Given the description of an element on the screen output the (x, y) to click on. 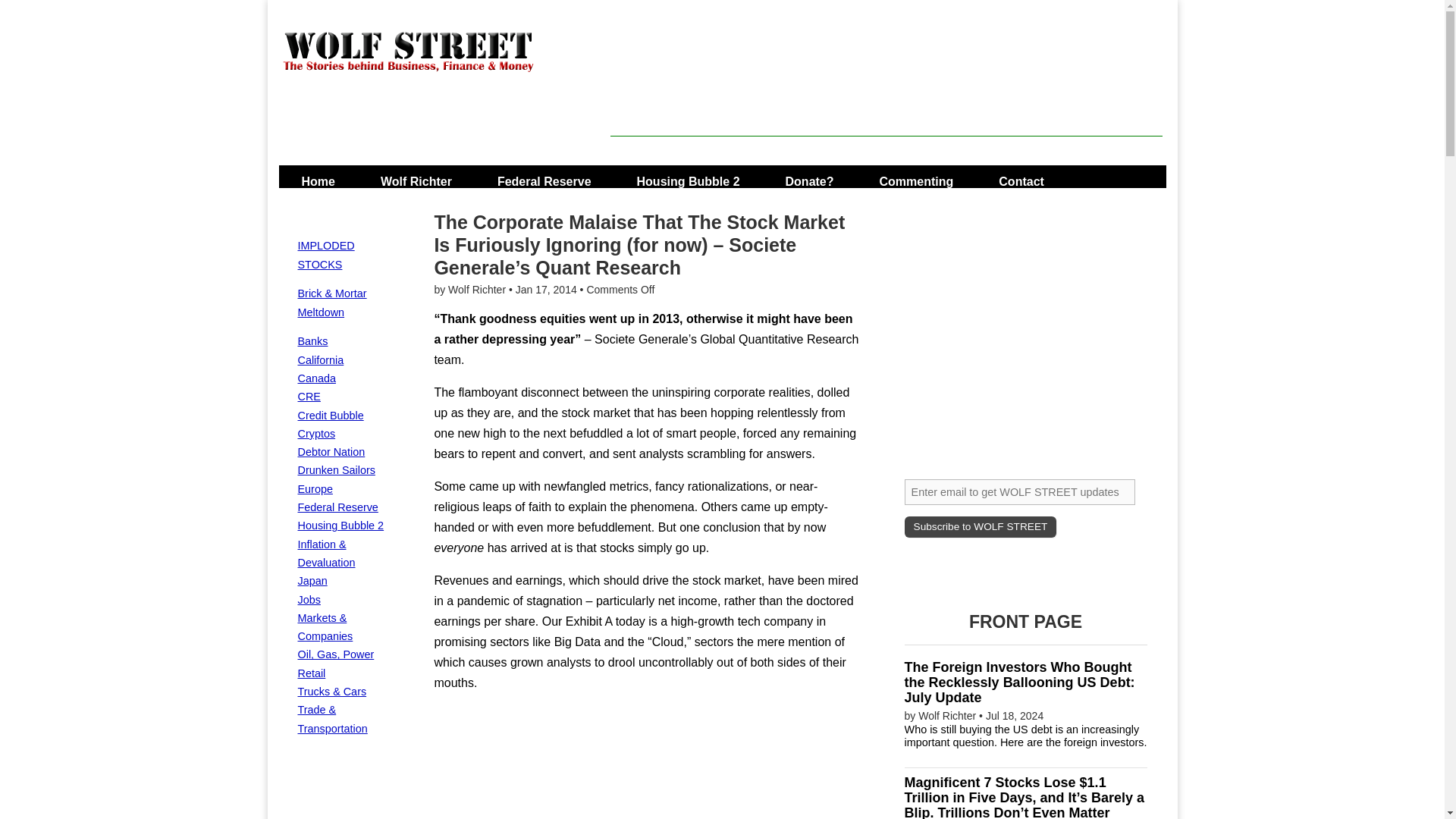
View all posts filed under Debtor Nation (331, 451)
Retail (310, 673)
View all posts filed under California Daydreaming (320, 359)
View all posts filed under Consumer (335, 469)
CRE (308, 396)
View all posts filed under Credit Bubble (329, 415)
Credit Bubble (329, 415)
Banks (312, 340)
Skip to content (322, 175)
Cryptos (315, 433)
View all posts filed under Jobs (308, 599)
Japan (311, 580)
Skip to content (322, 175)
View all posts filed under Cryptos (315, 433)
Oil, Gas, Power (335, 654)
